Given the description of an element on the screen output the (x, y) to click on. 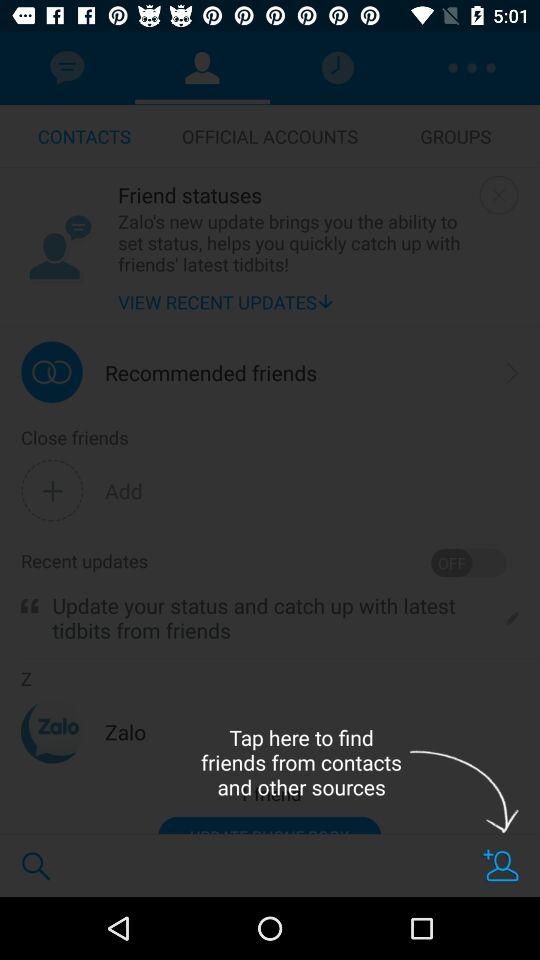
add friends (501, 865)
